Given the description of an element on the screen output the (x, y) to click on. 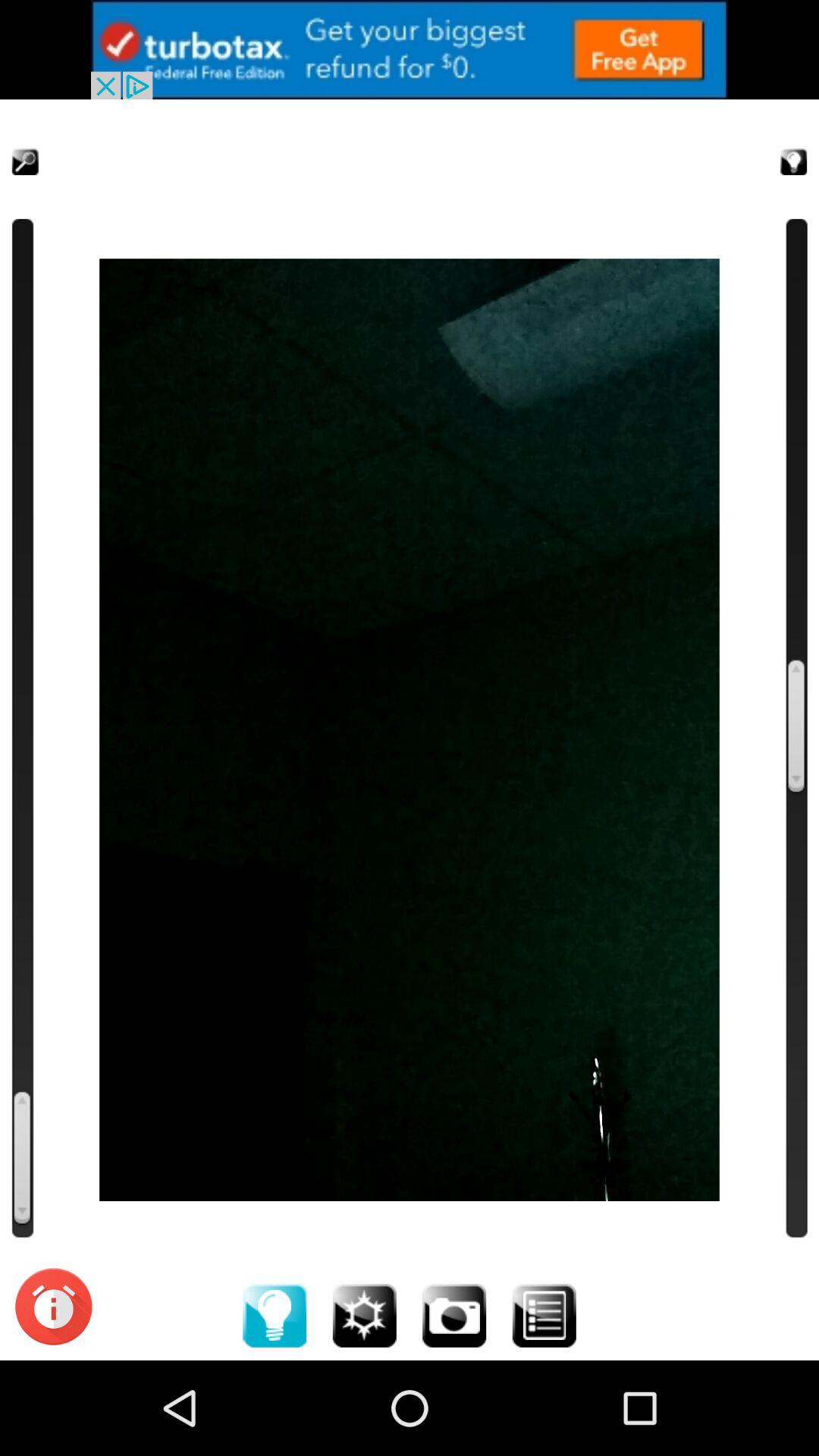
increase the light (274, 1315)
